Given the description of an element on the screen output the (x, y) to click on. 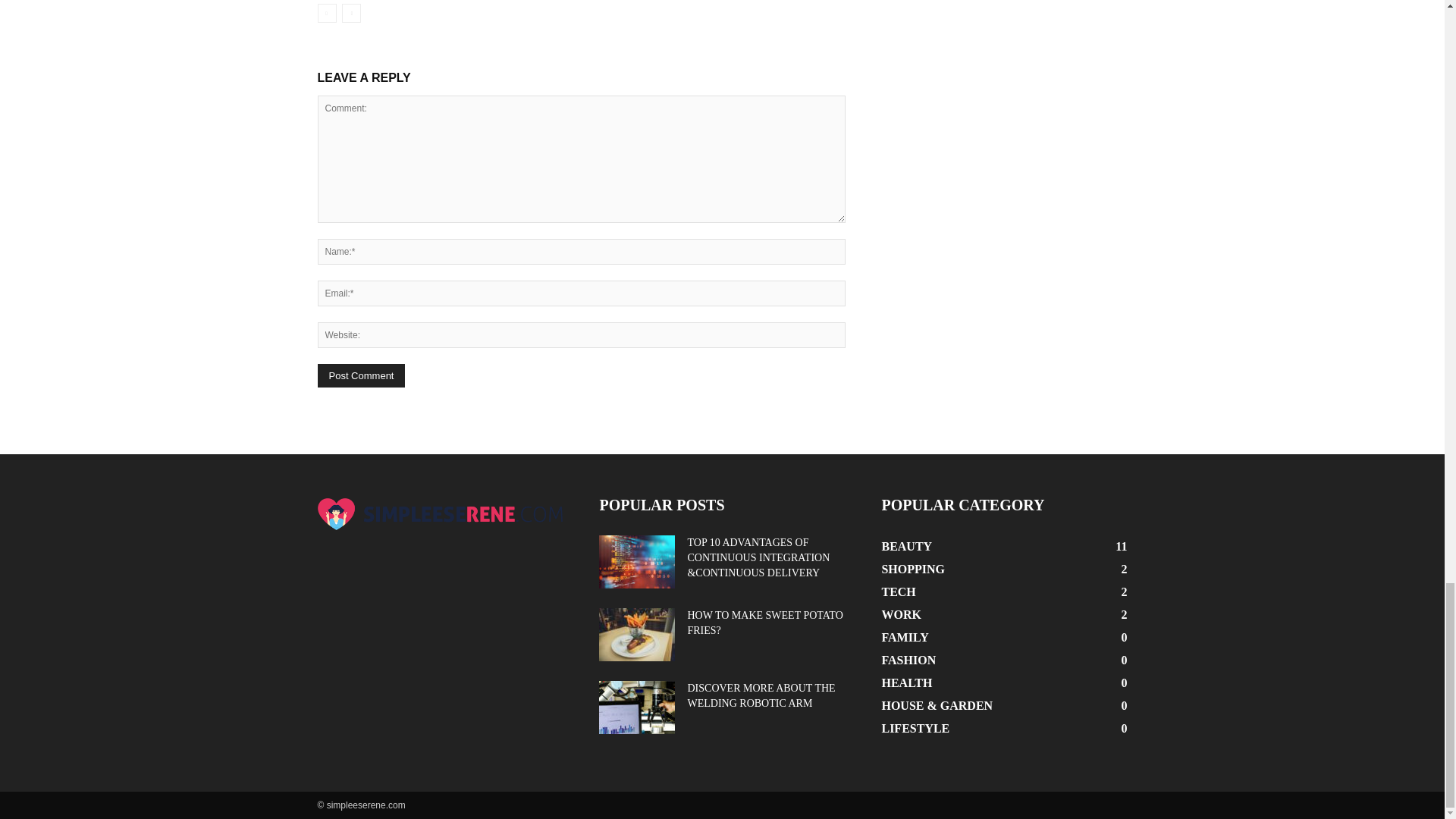
Post Comment (360, 375)
